Given the description of an element on the screen output the (x, y) to click on. 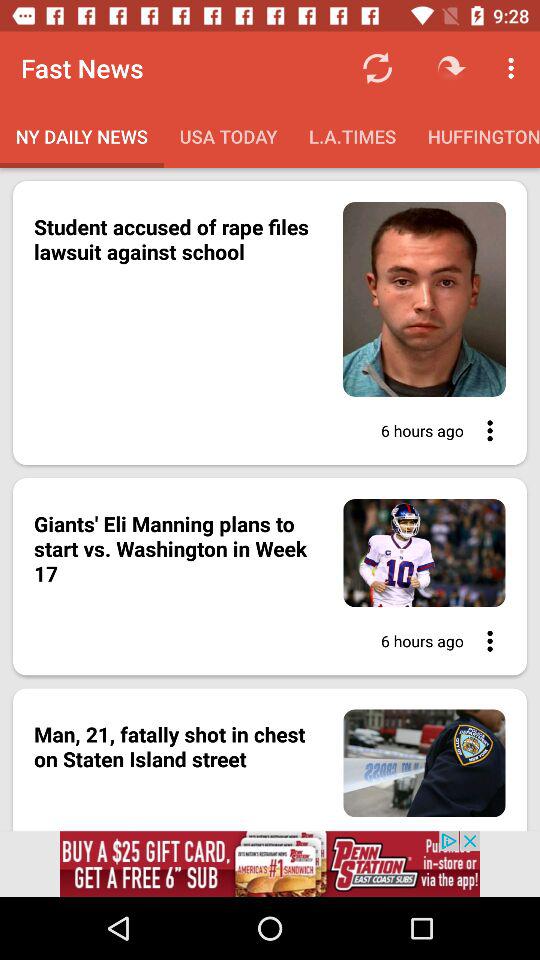
watch advertisement (270, 864)
